Given the description of an element on the screen output the (x, y) to click on. 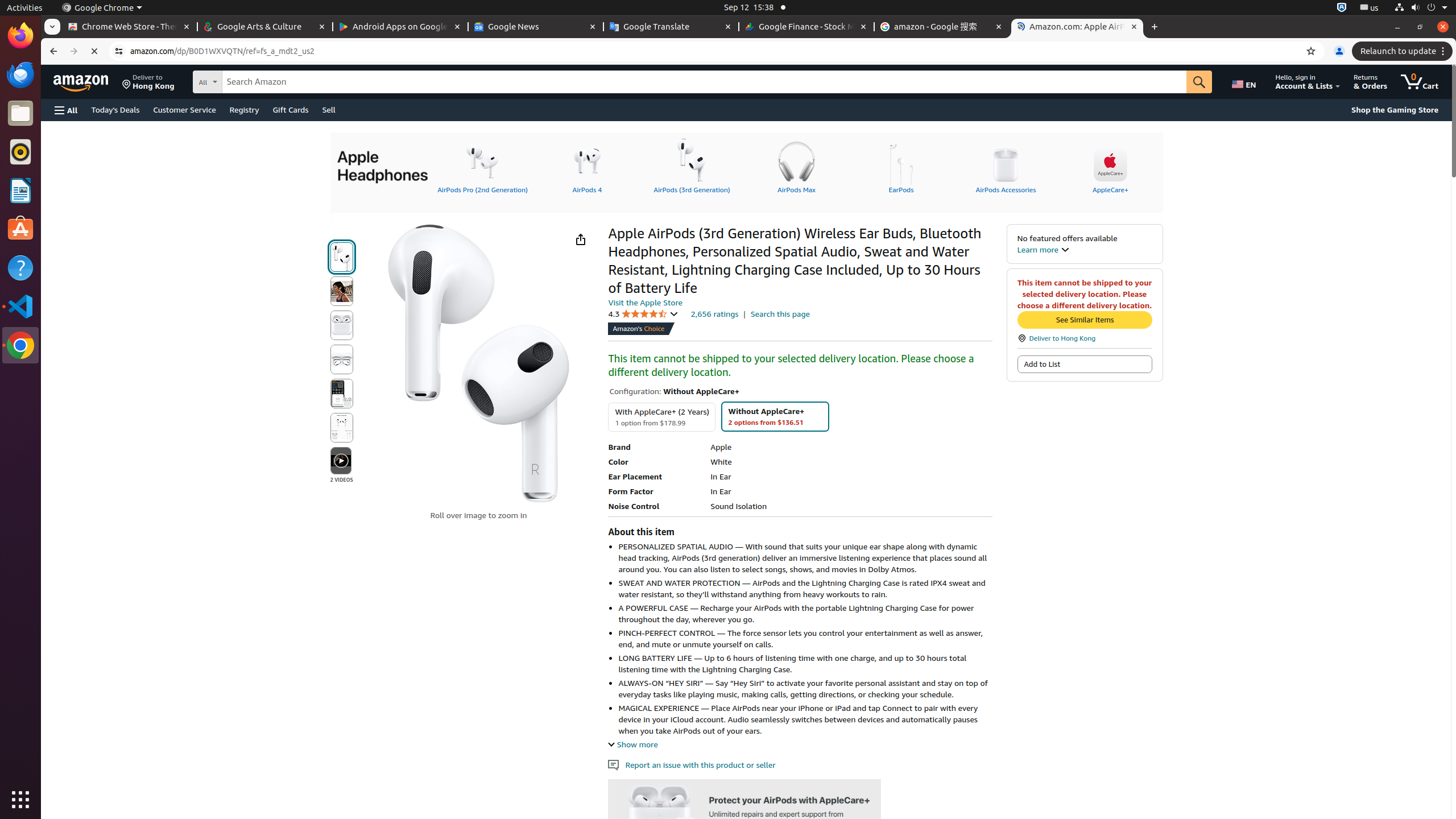
Deliver to Hong Kong Element type: link (1084, 337)
Deliver to Hong Kong Element type: link (148, 81)
EarPods Element type: link (901, 165)
Go Element type: push-button (1199, 81)
Google Chrome Element type: push-button (20, 344)
